Given the description of an element on the screen output the (x, y) to click on. 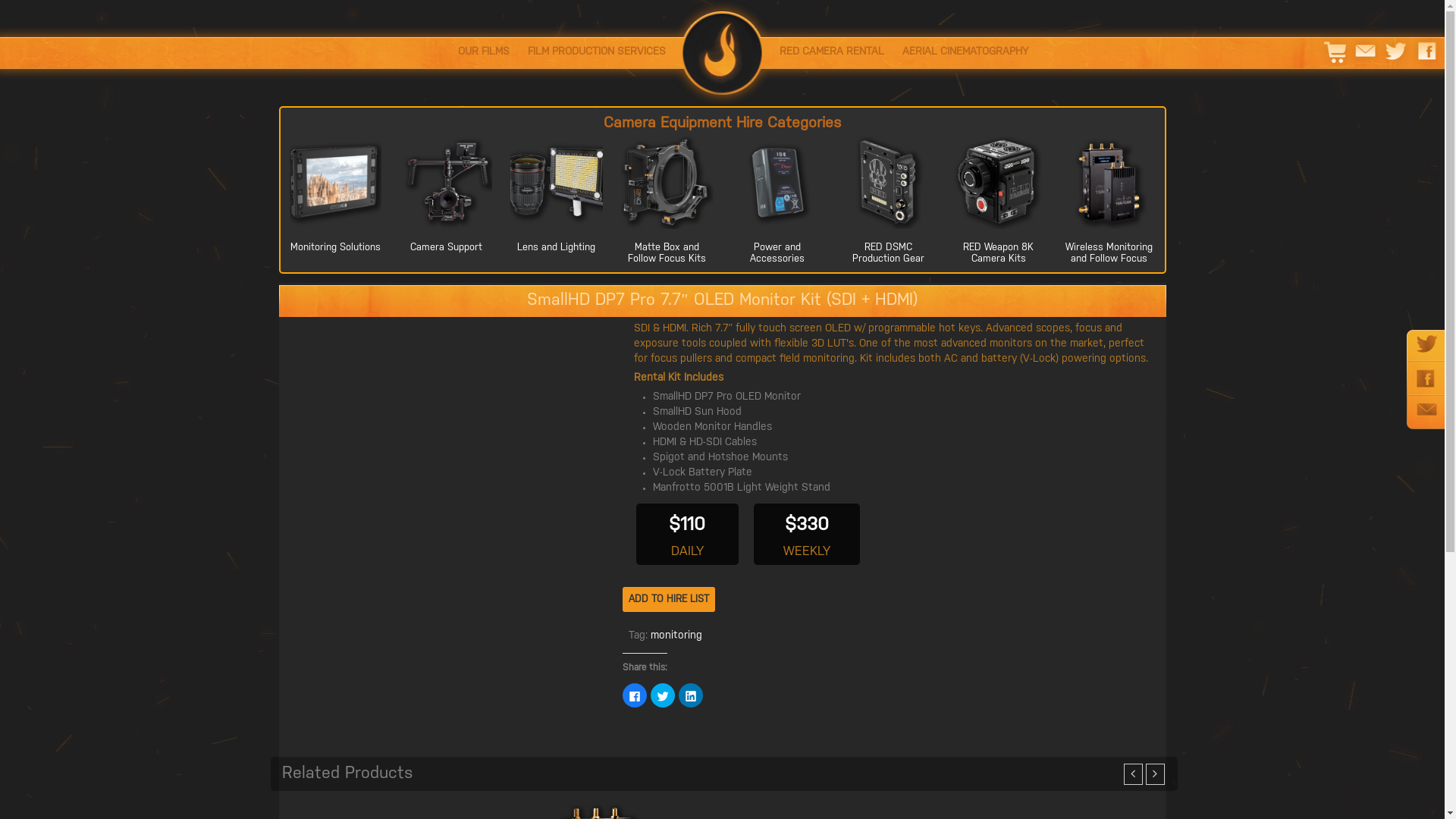
ADD TO HIRE LIST Element type: text (667, 598)
FILM PRODUCTION SERVICES Element type: text (596, 53)
Camera Support Element type: text (446, 247)
Lens and Lighting Element type: text (556, 247)
AERIAL CINEMATOGRAPHY Element type: text (964, 53)
Matte Box and Follow Focus Kits Element type: text (666, 252)
Wireless Monitoring and Follow Focus Element type: text (1108, 252)
Monitoring Solutions Element type: text (335, 247)
monitoring Element type: text (676, 635)
  Element type: text (721, 49)
Click to share on LinkedIn (Opens in new window) Element type: text (689, 695)
RED Weapon 8K Camera Kits Element type: text (998, 252)
Power and Accessories Element type: text (776, 252)
RED DSMC Production Gear Element type: text (888, 252)
Click to share on Facebook (Opens in new window) Element type: text (633, 695)
Click to share on Twitter (Opens in new window) Element type: text (662, 695)
RED CAMERA RENTAL Element type: text (831, 53)
OUR FILMS Element type: text (483, 53)
